Given the description of an element on the screen output the (x, y) to click on. 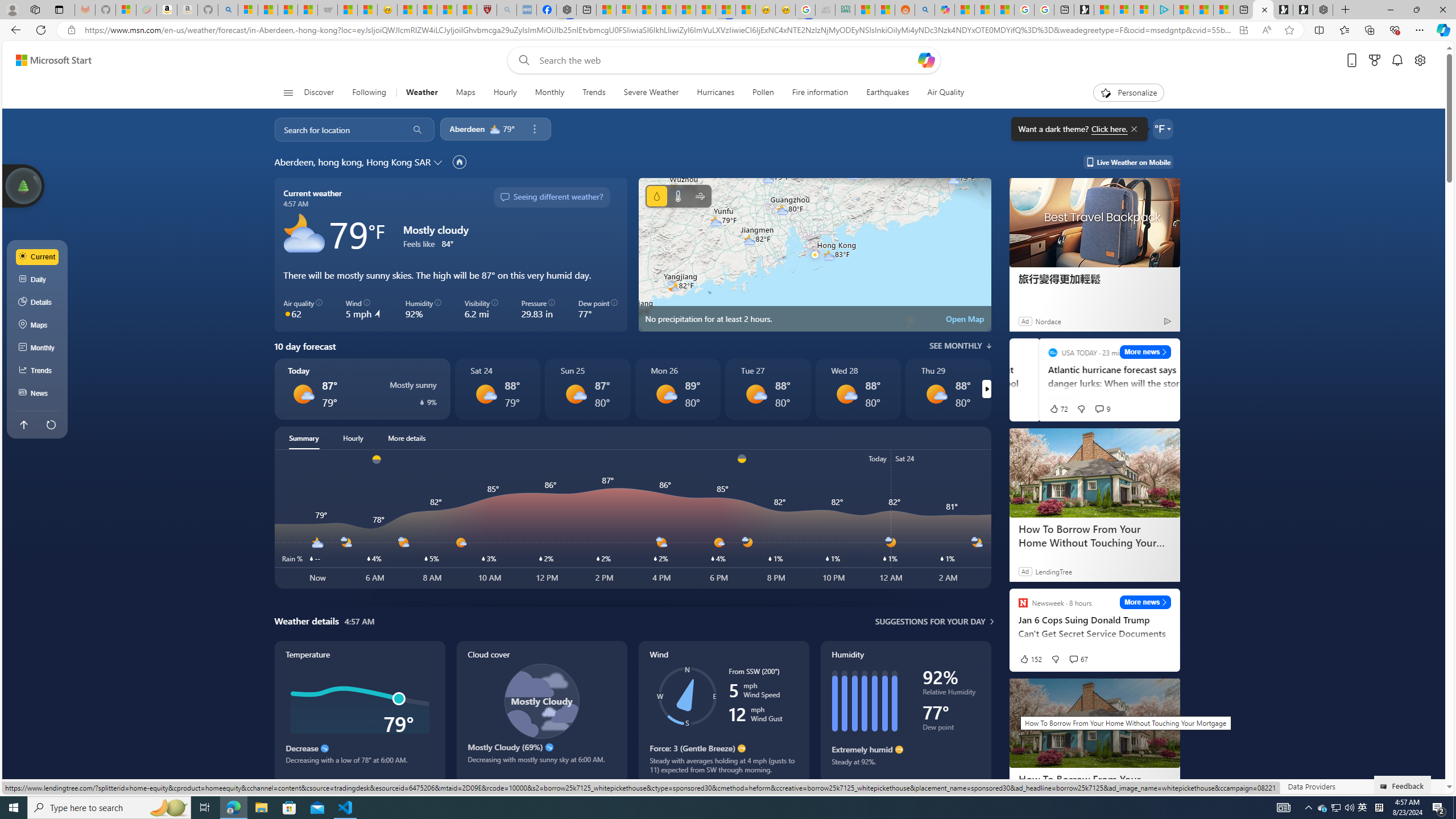
Temperature (678, 195)
Terms of use (1218, 785)
LendingTree (1053, 570)
Class: aqiColorCycle-DS-EntryPoint1-1 (287, 313)
Trends (593, 92)
Weather (421, 92)
Terms of use (1218, 786)
